Given the description of an element on the screen output the (x, y) to click on. 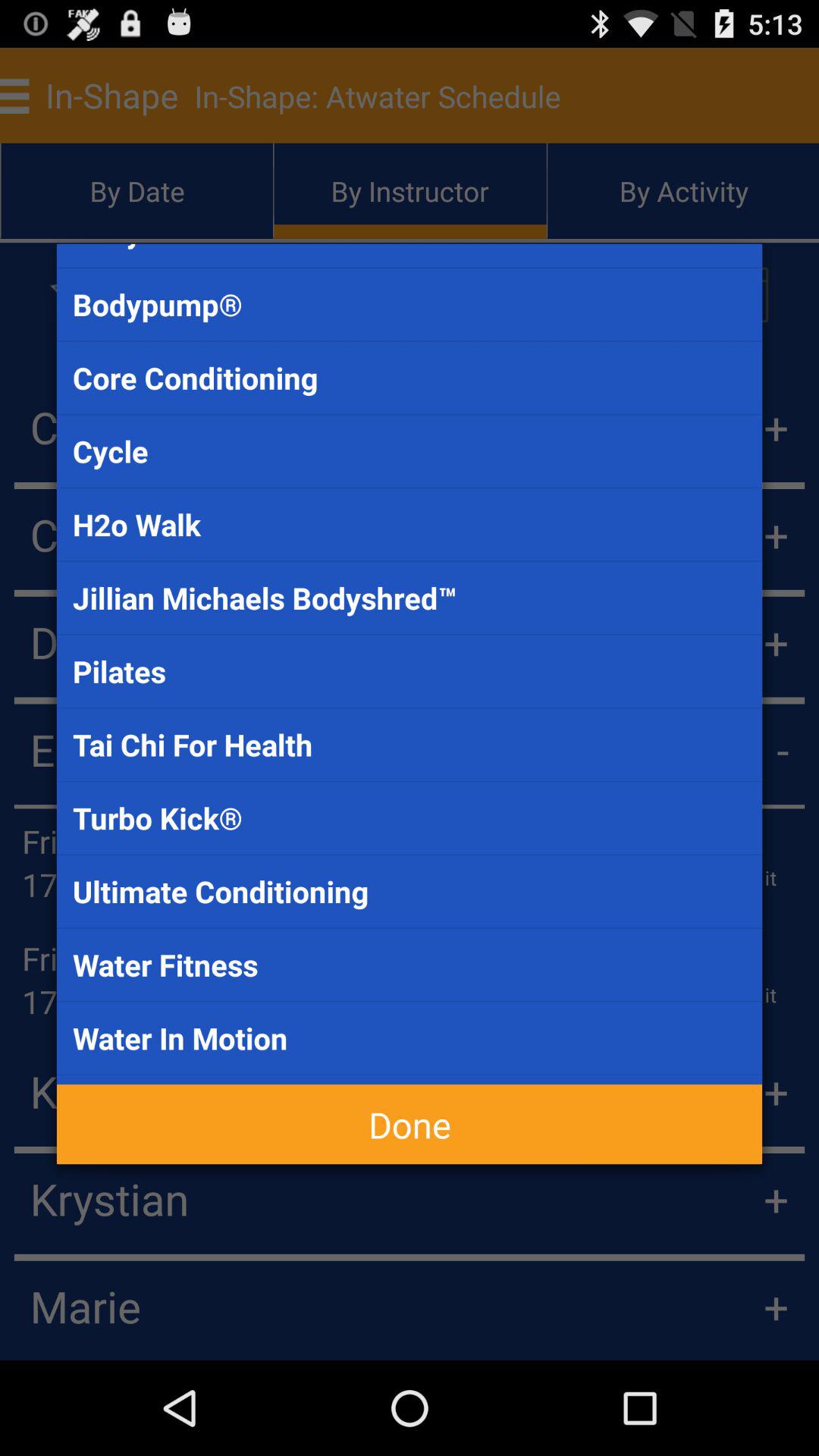
swipe to done (409, 1124)
